Given the description of an element on the screen output the (x, y) to click on. 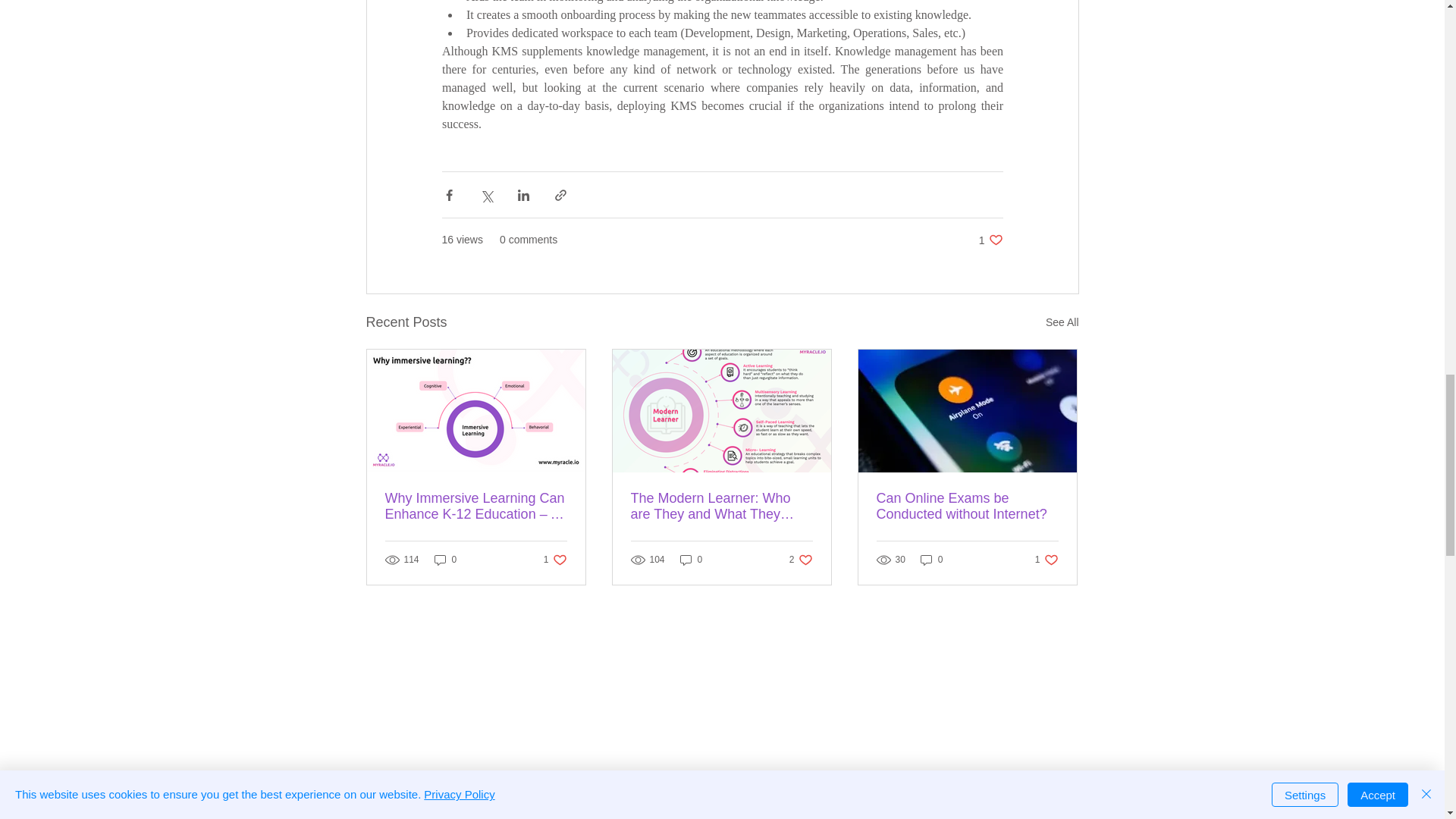
0 (691, 559)
0 (931, 559)
Can Online Exams be Conducted without Internet? (990, 239)
The Modern Learner: Who are They and What They Need (967, 506)
0 (555, 559)
See All (721, 506)
